Given the description of an element on the screen output the (x, y) to click on. 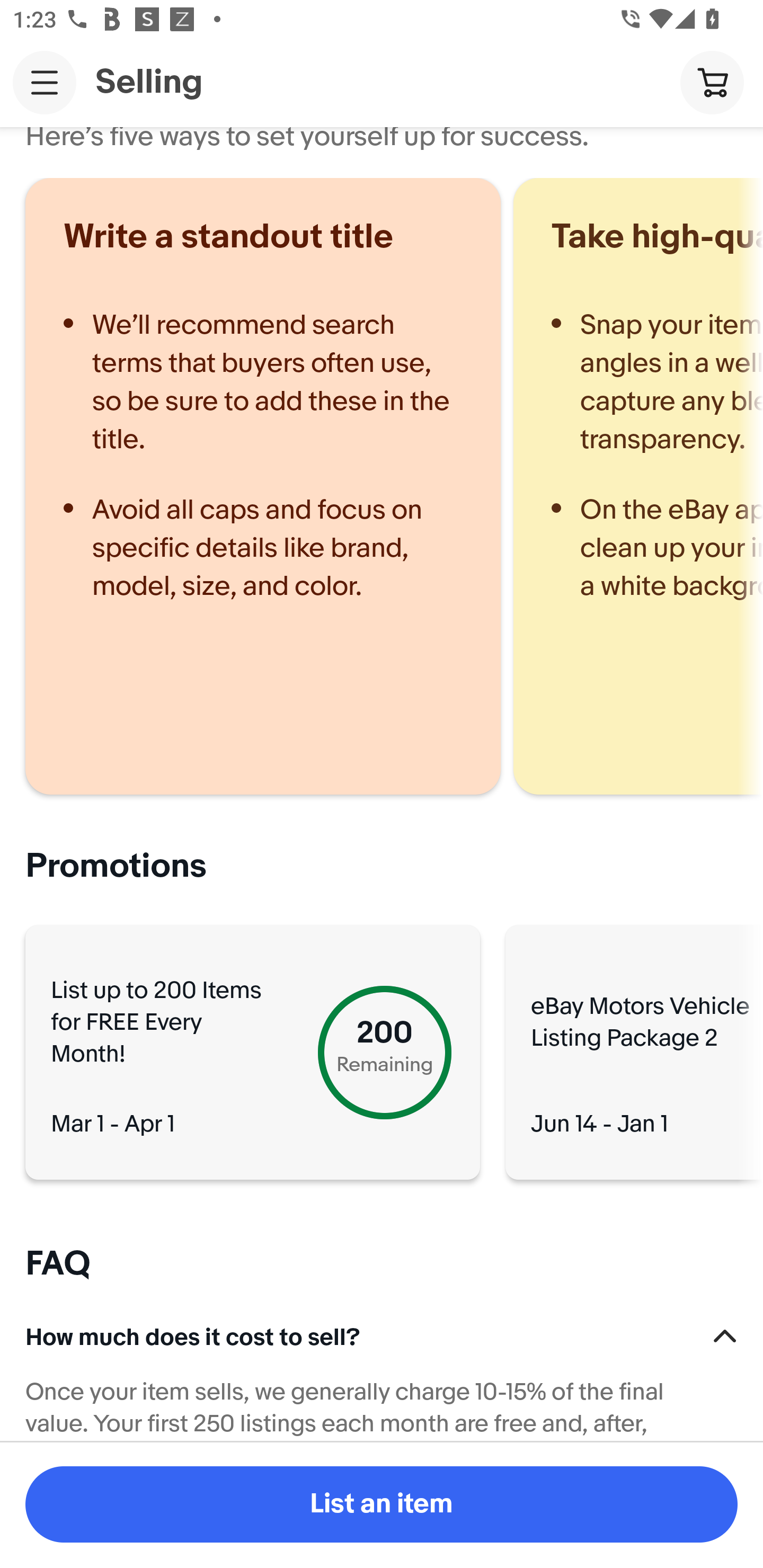
Main navigation, open (44, 82)
Cart button shopping cart (711, 81)
List an item (381, 1504)
